Given the description of an element on the screen output the (x, y) to click on. 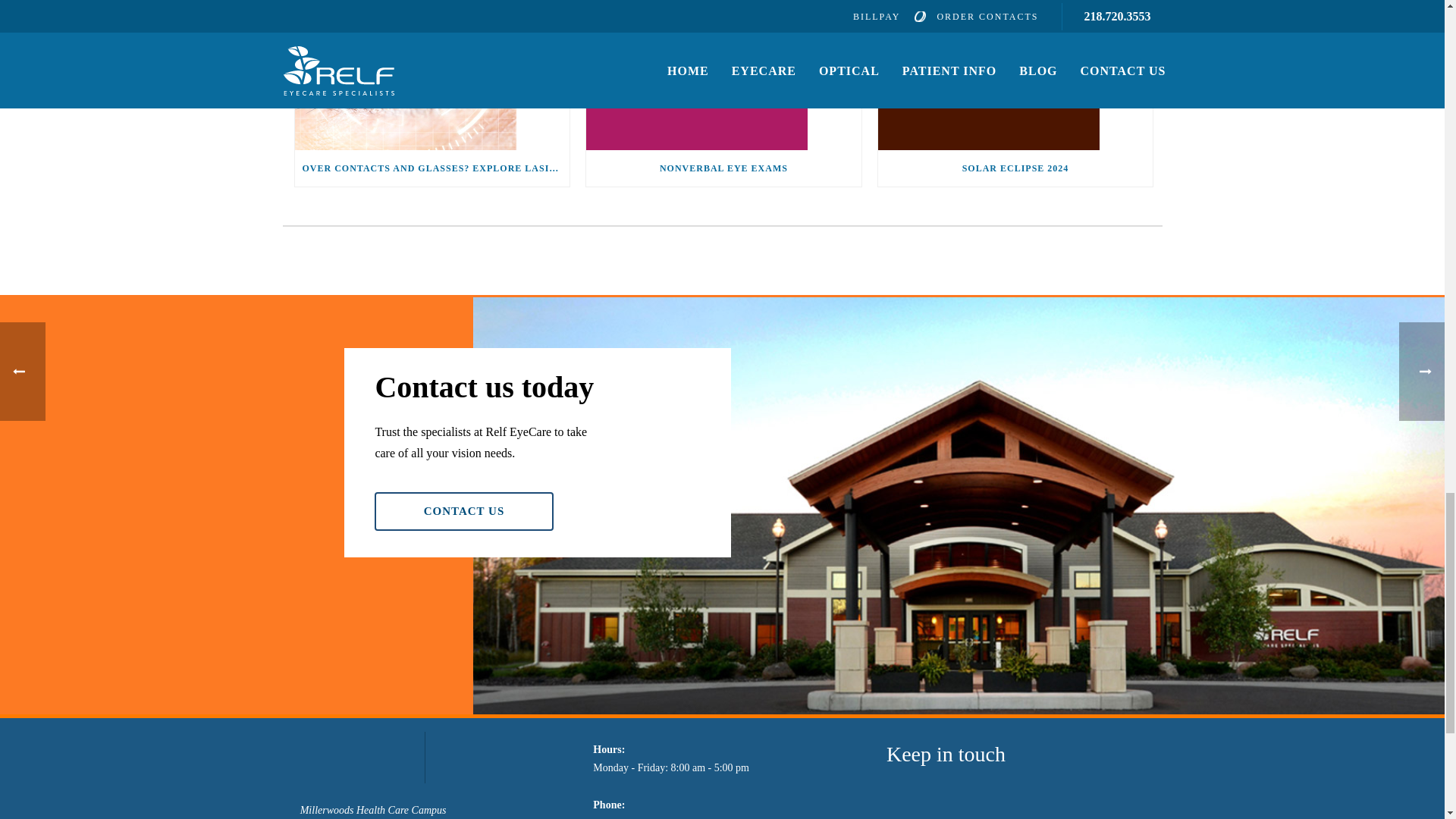
CONTACT US (463, 511)
Solar Eclipse 2024 (1015, 74)
Nonverbal Eye Exams (723, 74)
